Given the description of an element on the screen output the (x, y) to click on. 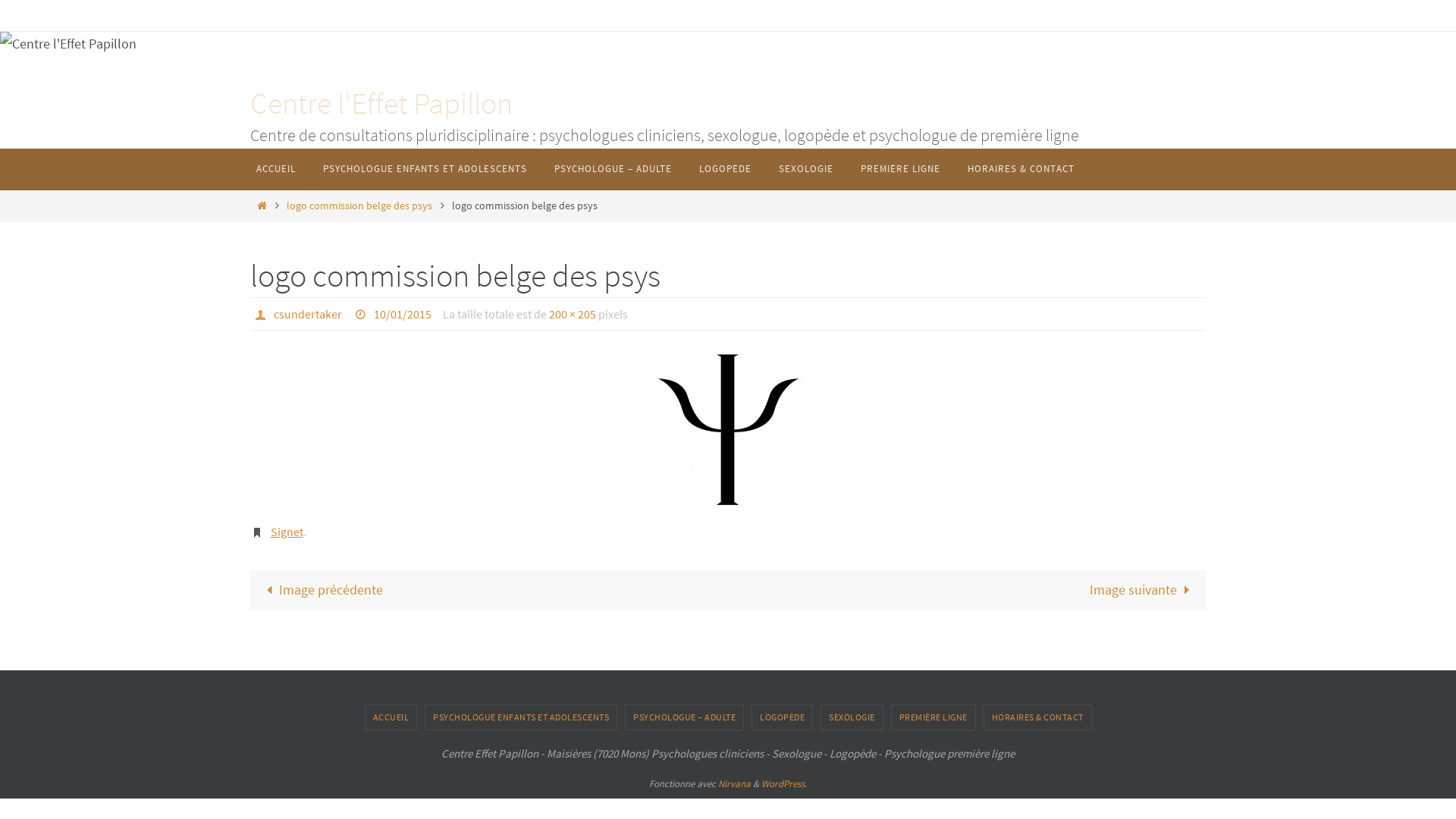
ACCUEIL Element type: text (391, 717)
SEXOLOGIE Element type: text (806, 169)
PSYCHOLOGUE ENFANTS ET ADOLESCENTS Element type: text (520, 717)
SEXOLOGIE Element type: text (851, 717)
Nirvana Element type: text (734, 783)
Image suivante Element type: text (966, 589)
10/01/2015 Element type: text (402, 314)
csundertaker Element type: text (307, 314)
Centre l'Effet Papillon Element type: text (381, 102)
Date Element type: hover (362, 313)
Auteur Element type: hover (262, 313)
PSYCHOLOGUE ENFANTS ET ADOLESCENTS Element type: text (424, 169)
Signet Element type: text (286, 531)
logo commission belge des psys Element type: hover (727, 429)
Home Element type: text (261, 205)
ACCUEIL Element type: text (275, 169)
WordPress. Element type: text (783, 783)
Marquer le permalien Element type: hover (259, 531)
logo commission belge des psys Element type: text (359, 205)
HORAIRES & CONTACT Element type: text (1020, 169)
HORAIRES & CONTACT Element type: text (1037, 717)
